Given the description of an element on the screen output the (x, y) to click on. 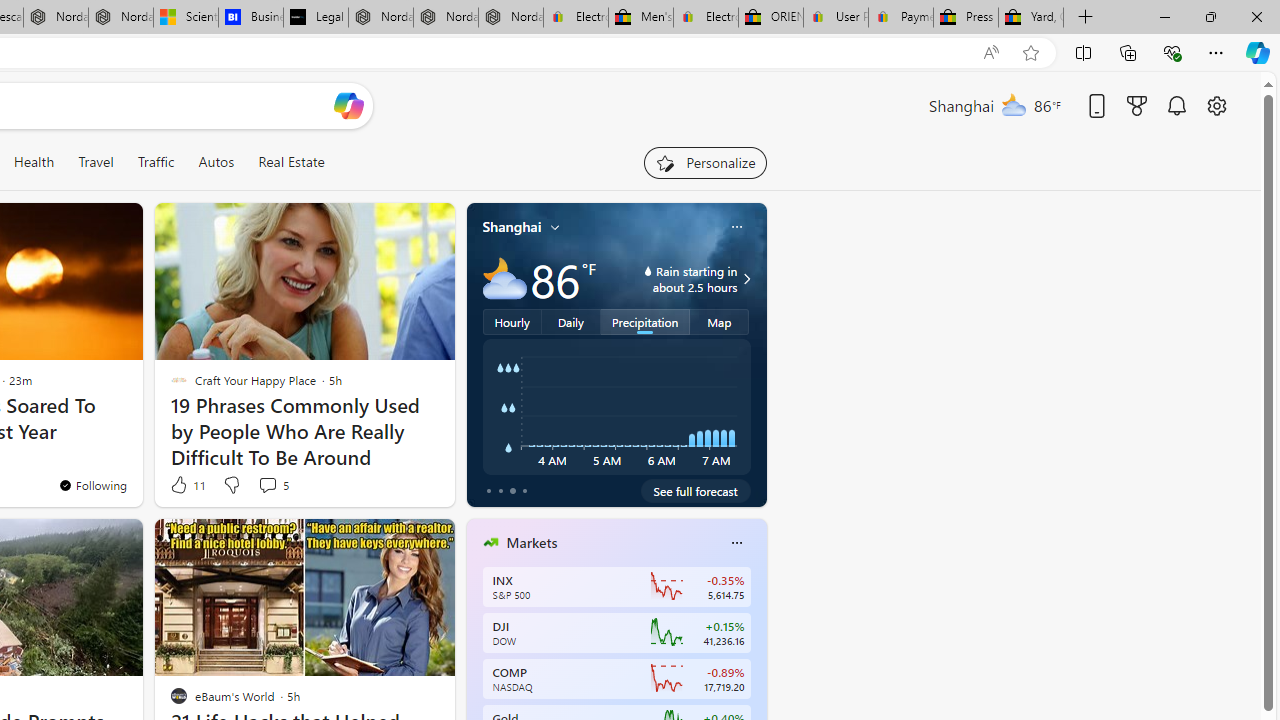
4 AM 5 AM 6 AM 7 AM (616, 407)
tab-1 (500, 490)
tab-0 (488, 490)
Map (719, 321)
You're following The Weather Channel (92, 485)
Health (33, 162)
water-drop-icon Rain starting in about 2.5 hours (674, 278)
Real Estate (290, 162)
Class: icon-img (736, 542)
Personalize your feed" (704, 162)
